Given the description of an element on the screen output the (x, y) to click on. 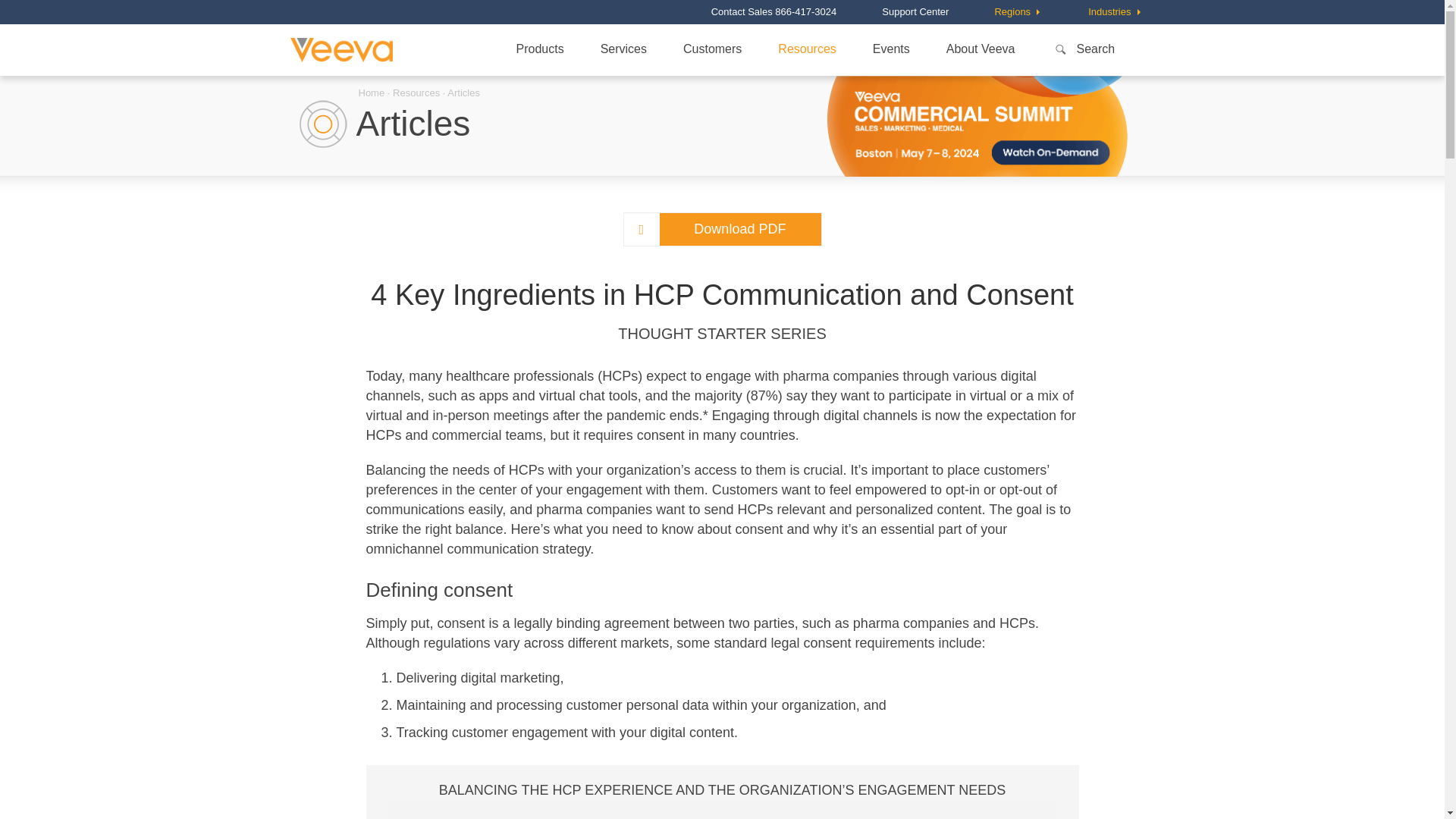
Support Center (915, 11)
Veeva (340, 50)
Contact Sales 866-417-3024 (774, 11)
